Given the description of an element on the screen output the (x, y) to click on. 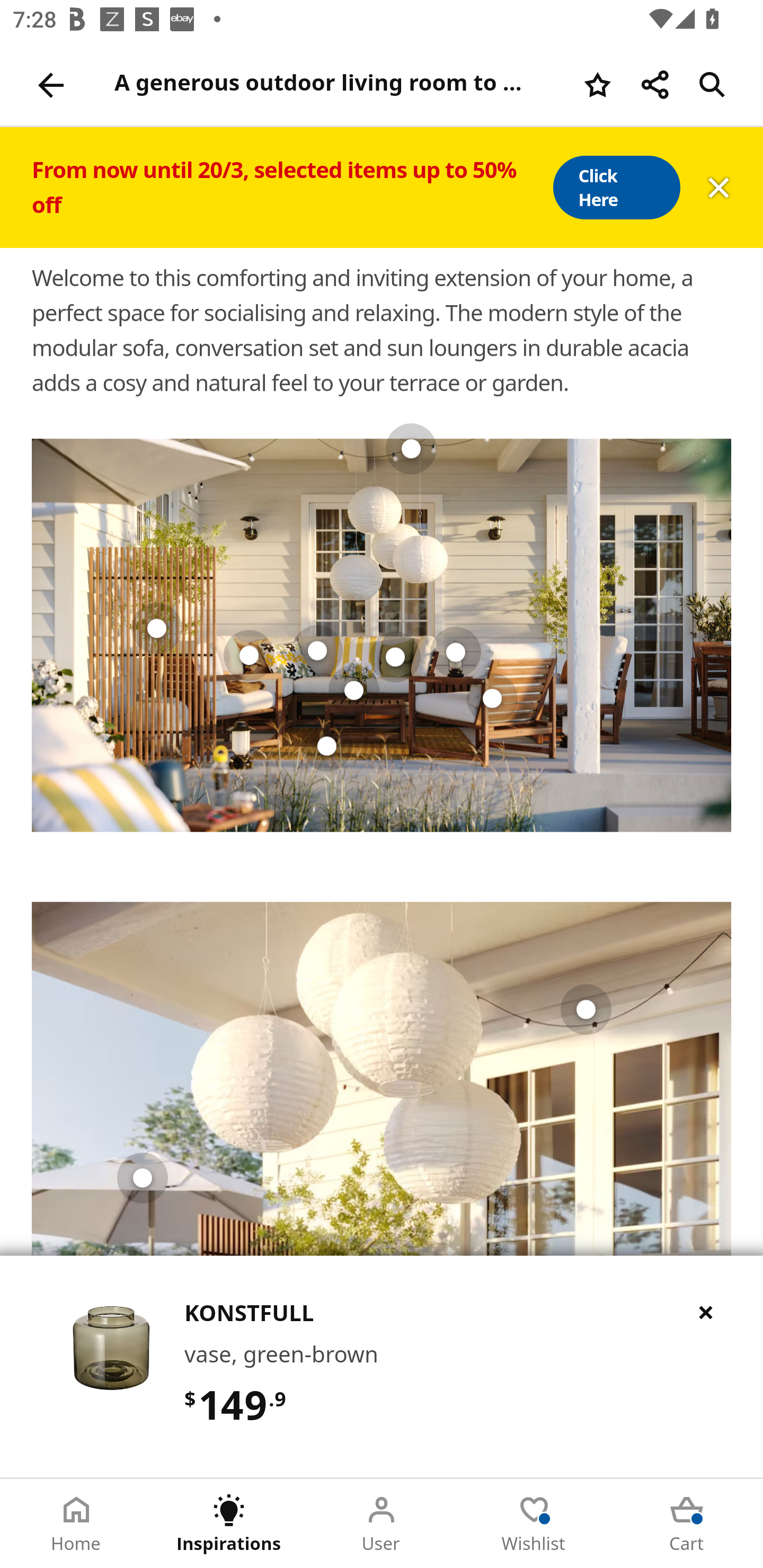
Click Here (615, 187)
​K​O​N​S​T​F​U​L​L​
vase, green-brown
$
149
.9 (381, 1366)
Home
Tab 1 of 5 (76, 1522)
Inspirations
Tab 2 of 5 (228, 1522)
User
Tab 3 of 5 (381, 1522)
Wishlist
Tab 4 of 5 (533, 1522)
Cart
Tab 5 of 5 (686, 1522)
